Given the description of an element on the screen output the (x, y) to click on. 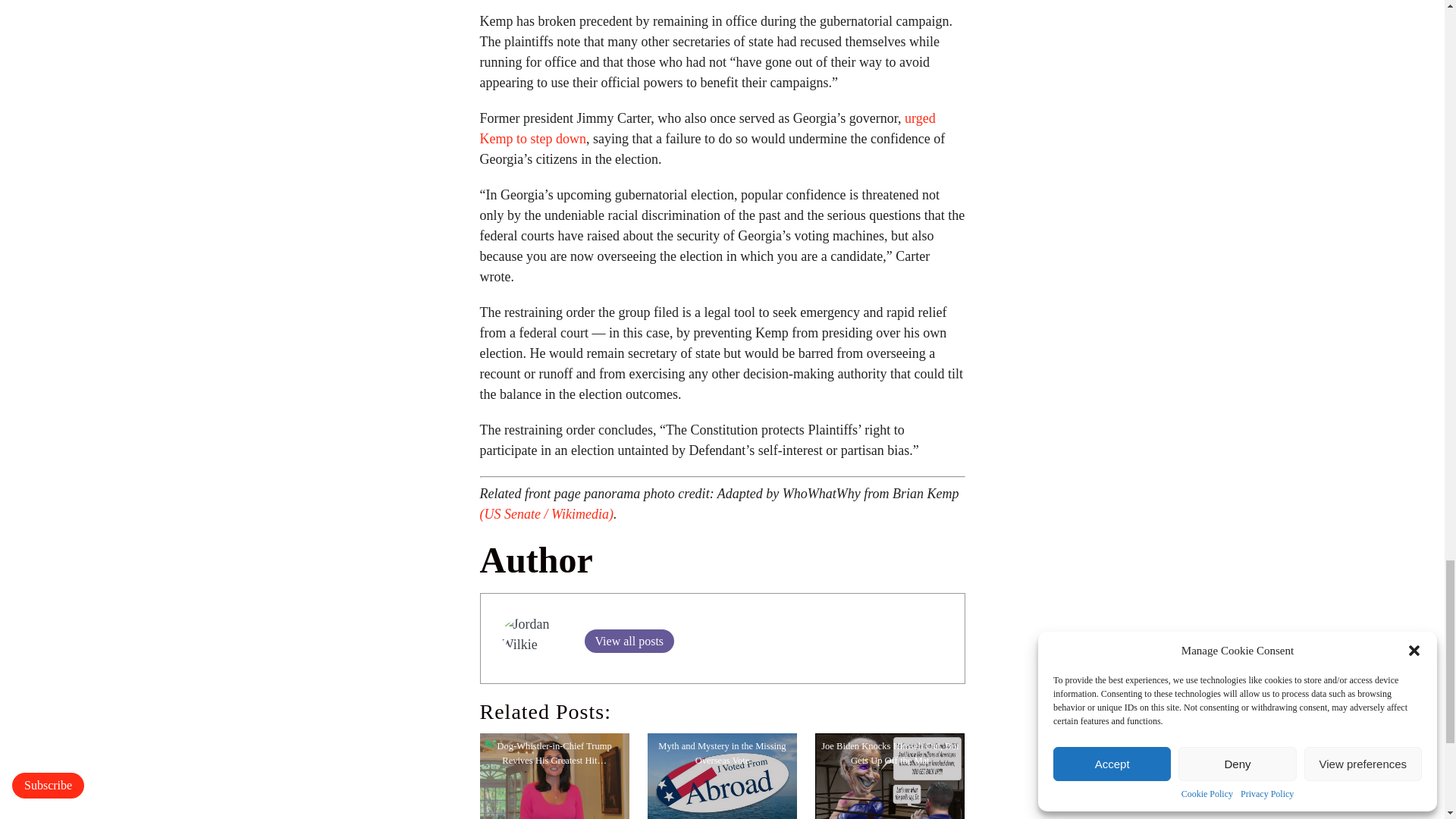
View all posts (628, 640)
Joe Biden Knocks Himself Out, But Gets Up Off the Mat (889, 776)
Myth and Mystery in the Missing Overseas Vote (721, 776)
